Given the description of an element on the screen output the (x, y) to click on. 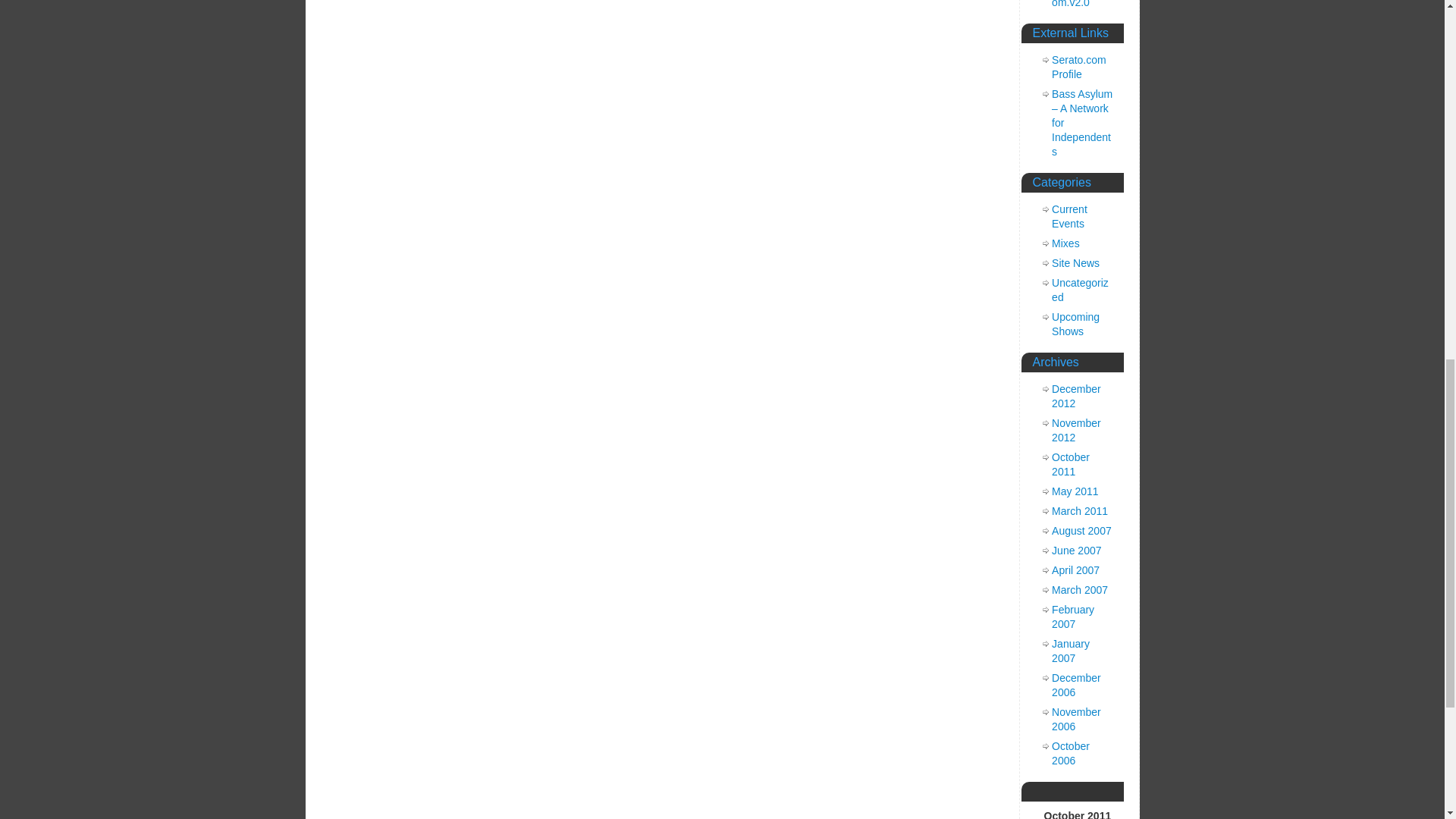
Site News (1075, 263)
psych0tron.com.v2.0 (1081, 4)
Mixes (1065, 243)
May 2011 (1074, 491)
psych0tron.com.v2.0 (1081, 4)
View all posts filed under Current Events (1069, 216)
Uncategorized (1079, 289)
Serato.com Profile (1078, 67)
View all posts filed under Mixes (1065, 243)
June 2007 (1075, 550)
December 2012 (1075, 396)
Current Events (1069, 216)
March 2011 (1079, 510)
August 2007 (1081, 530)
October 2011 (1070, 464)
